Given the description of an element on the screen output the (x, y) to click on. 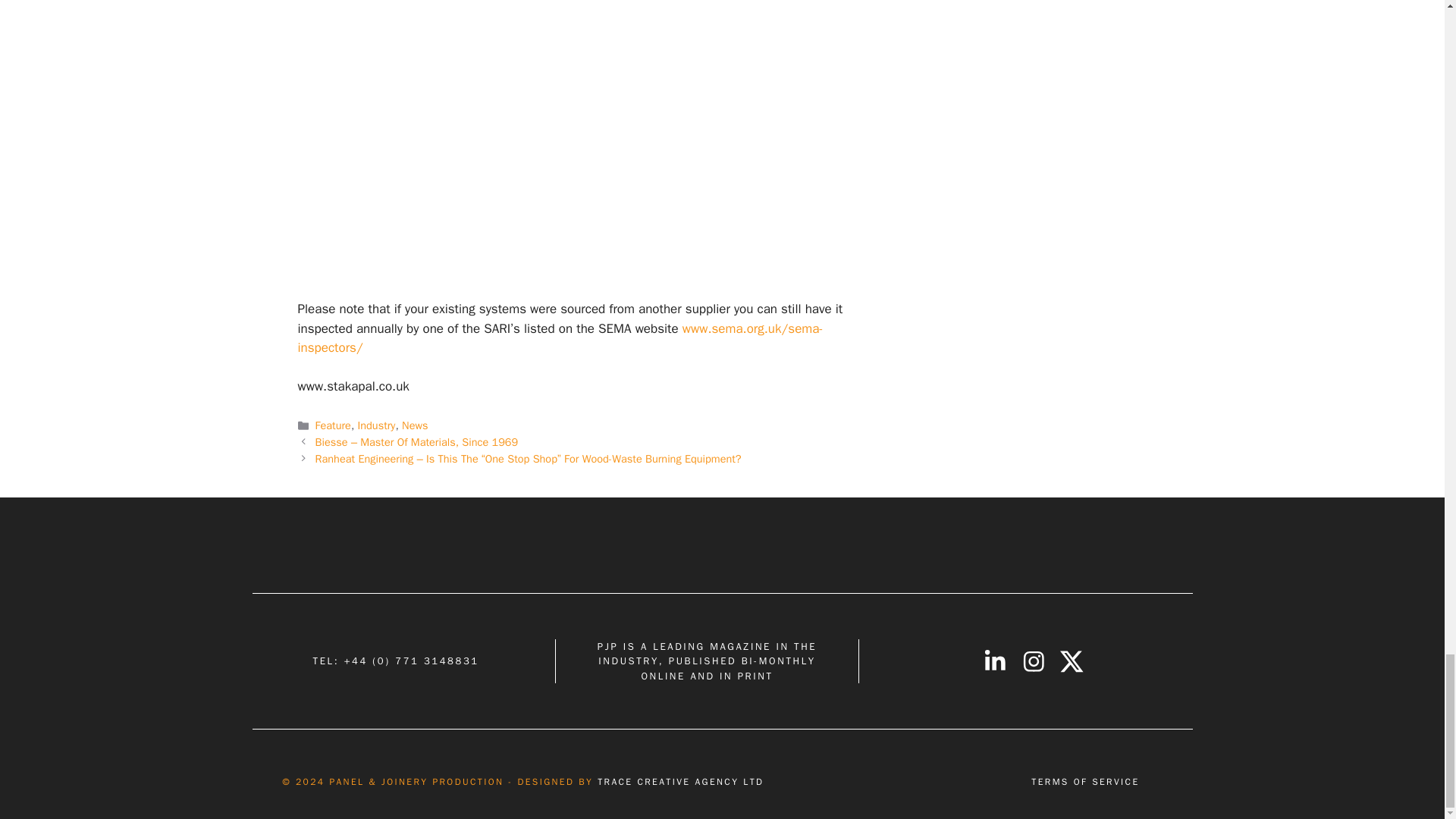
Feature (332, 425)
Industry (377, 425)
News (414, 425)
